Given the description of an element on the screen output the (x, y) to click on. 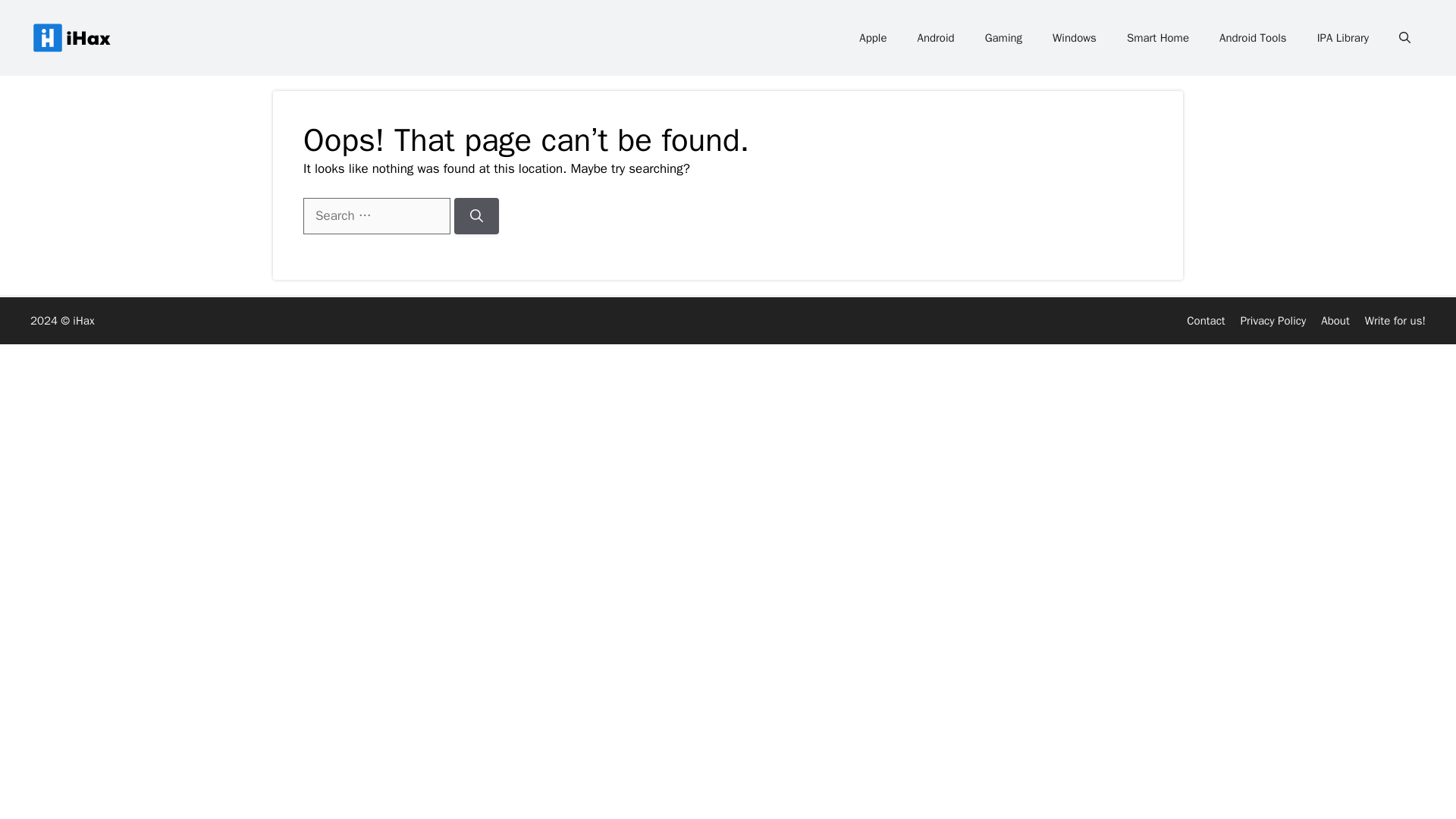
Search for: (375, 216)
Contact (1205, 320)
Android Tools (1252, 37)
Smart Home (1158, 37)
Android (935, 37)
Privacy Policy (1273, 320)
IPA Library (1342, 37)
About (1334, 320)
Windows (1074, 37)
Write for us! (1395, 320)
